Given the description of an element on the screen output the (x, y) to click on. 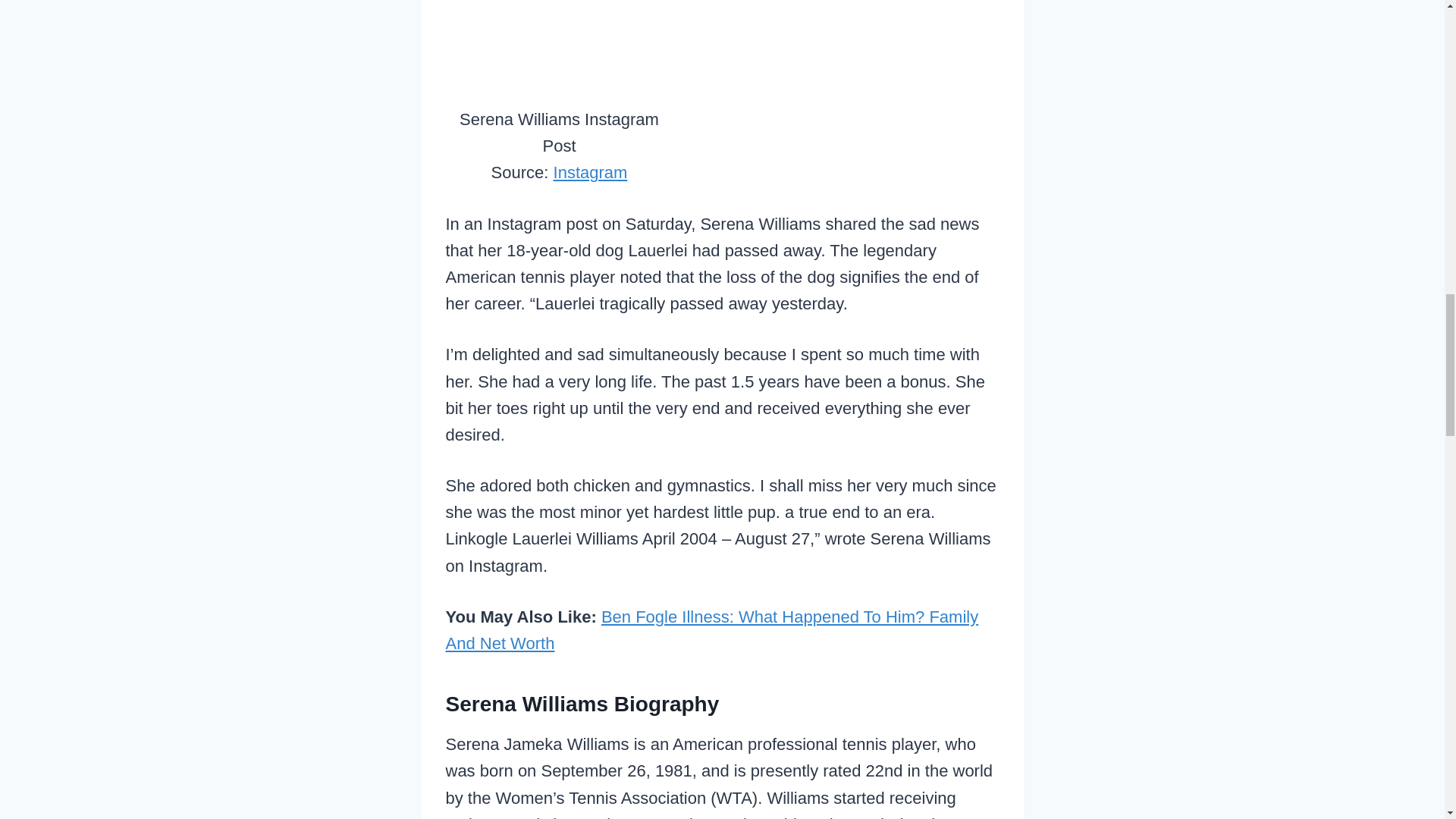
Instagram (590, 171)
